Given the description of an element on the screen output the (x, y) to click on. 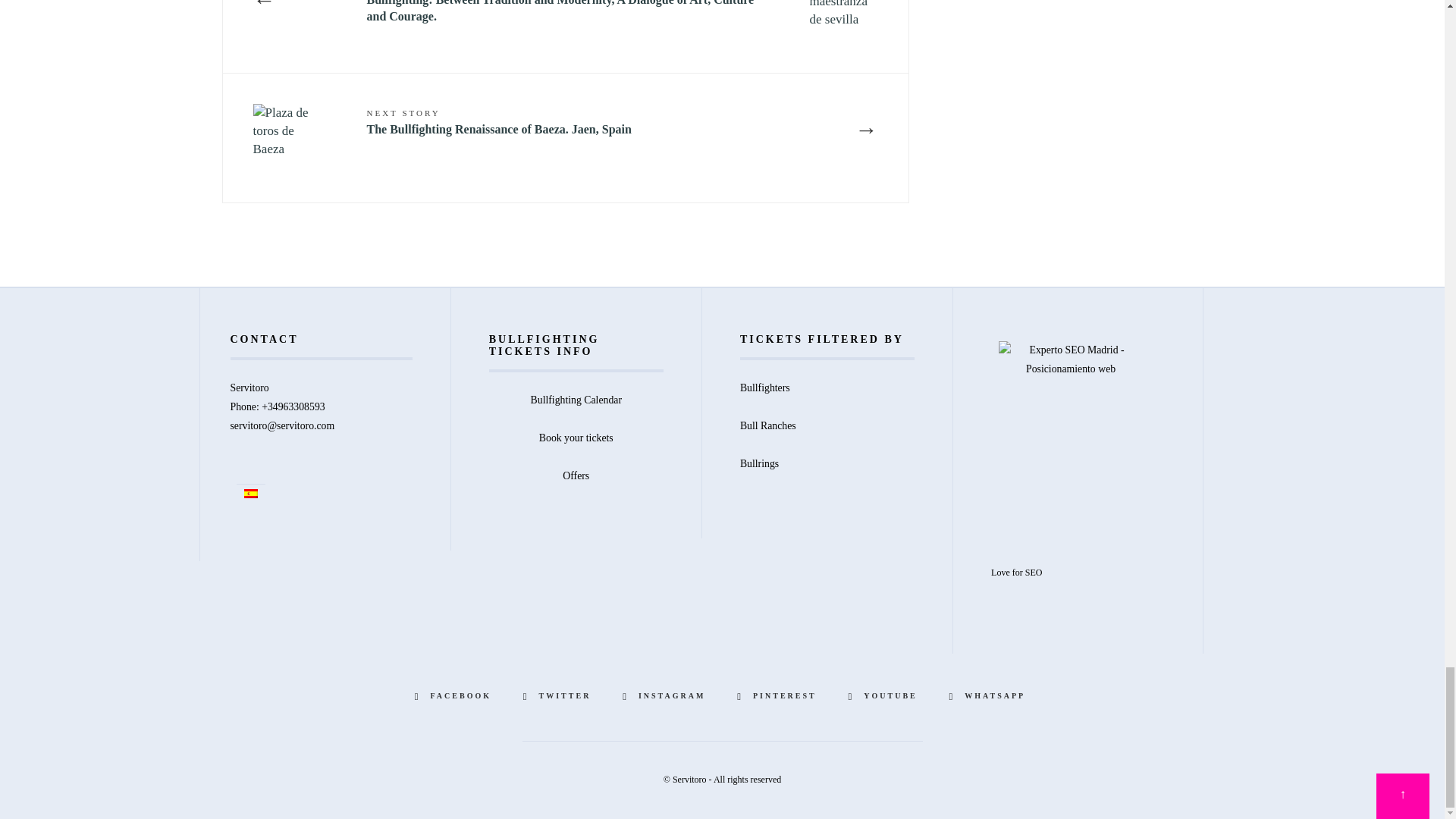
Bullfighting Calendar (576, 399)
